Given the description of an element on the screen output the (x, y) to click on. 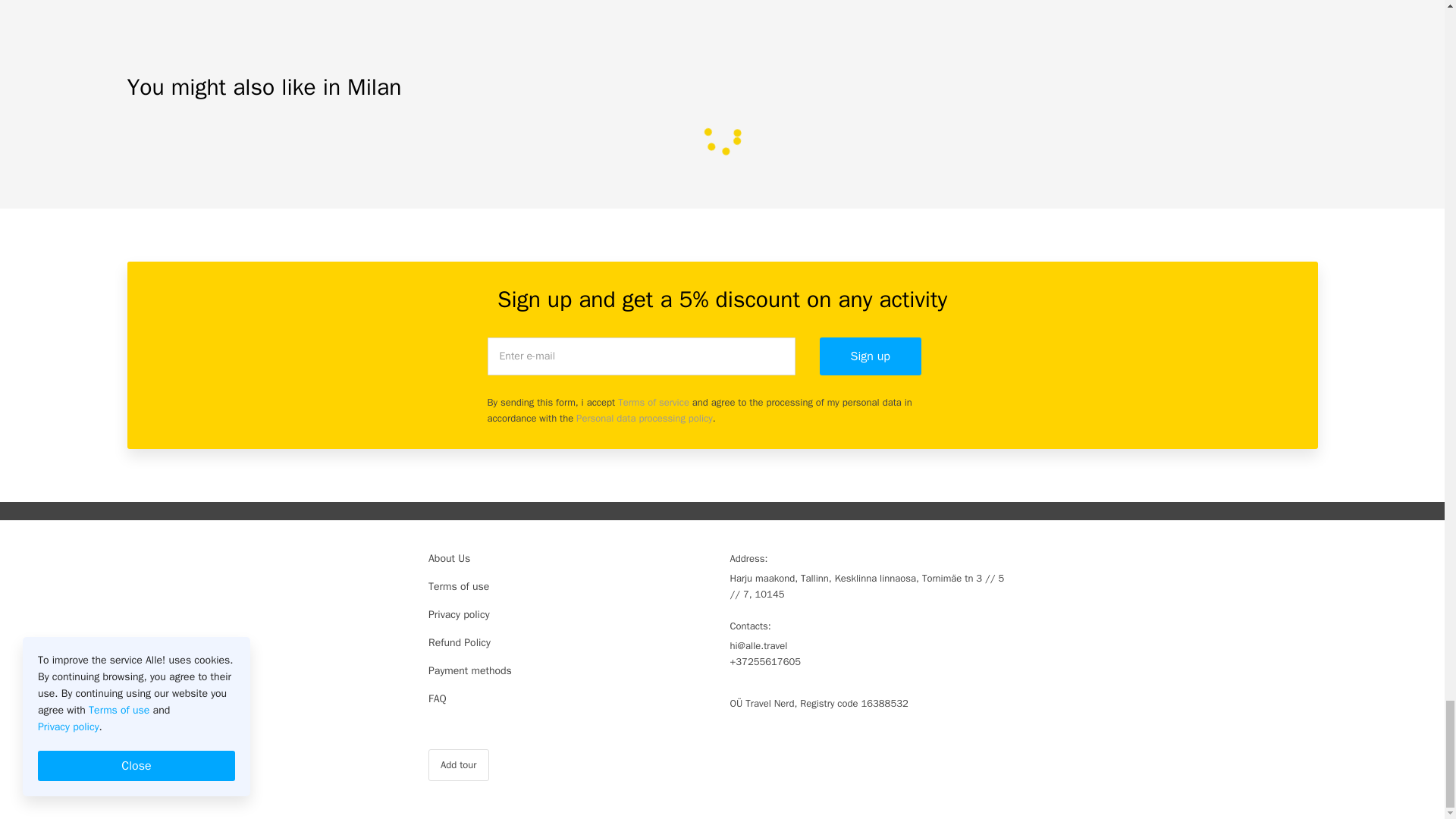
Privacy policy (571, 614)
Terms of use (571, 586)
Sign up (869, 356)
Payment methods (571, 670)
Refund Policy (571, 642)
Add tour (458, 765)
FAQ (571, 699)
Personal data processing policy (644, 418)
About Us (571, 558)
Sign up (869, 356)
